Given the description of an element on the screen output the (x, y) to click on. 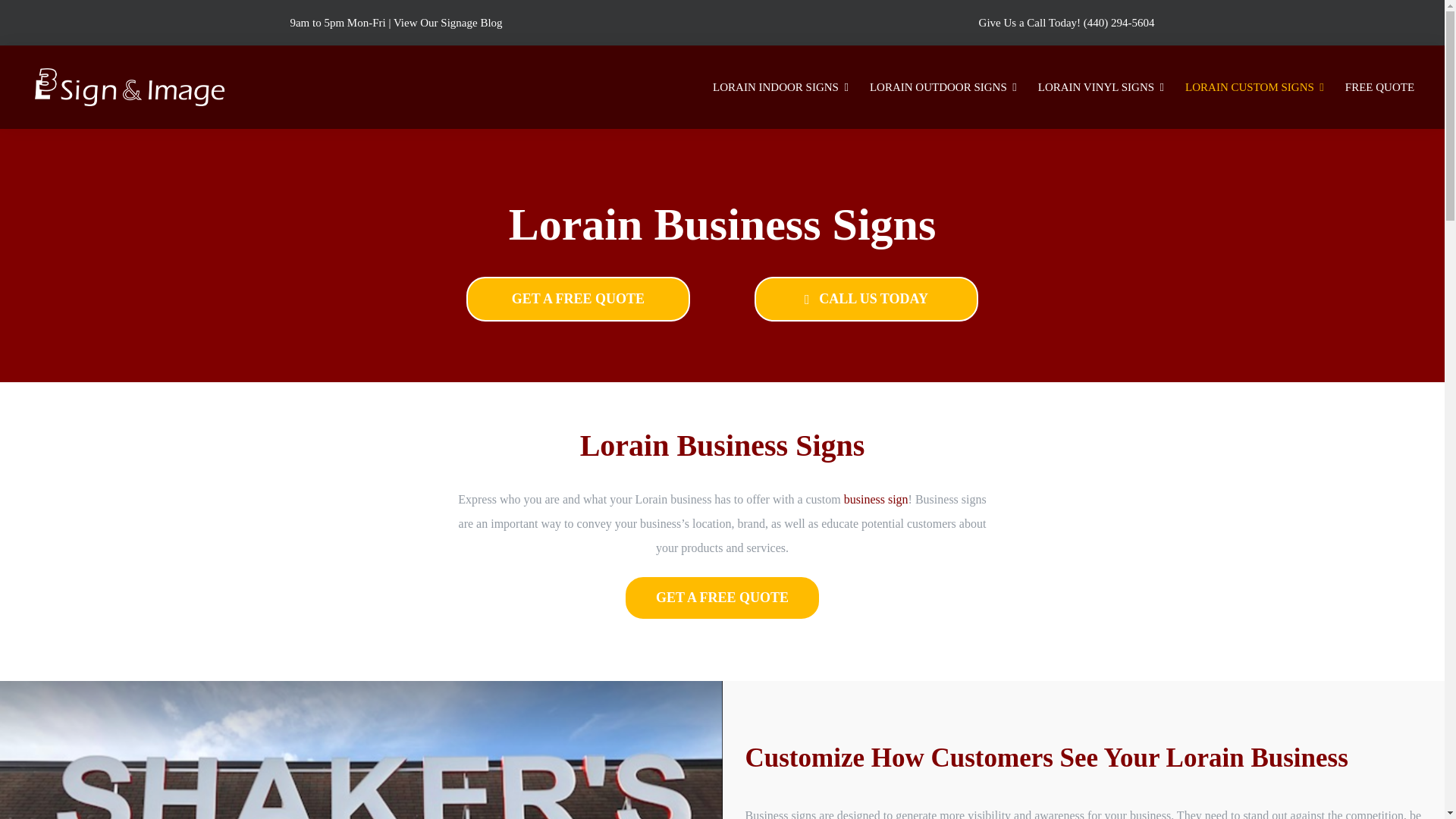
LORAIN INDOOR SIGNS (780, 86)
View Our Signage Blog (447, 22)
LORAIN CUSTOM SIGNS (1254, 86)
LORAIN OUTDOOR SIGNS (943, 86)
LORAIN VINYL SIGNS (1101, 86)
